Given the description of an element on the screen output the (x, y) to click on. 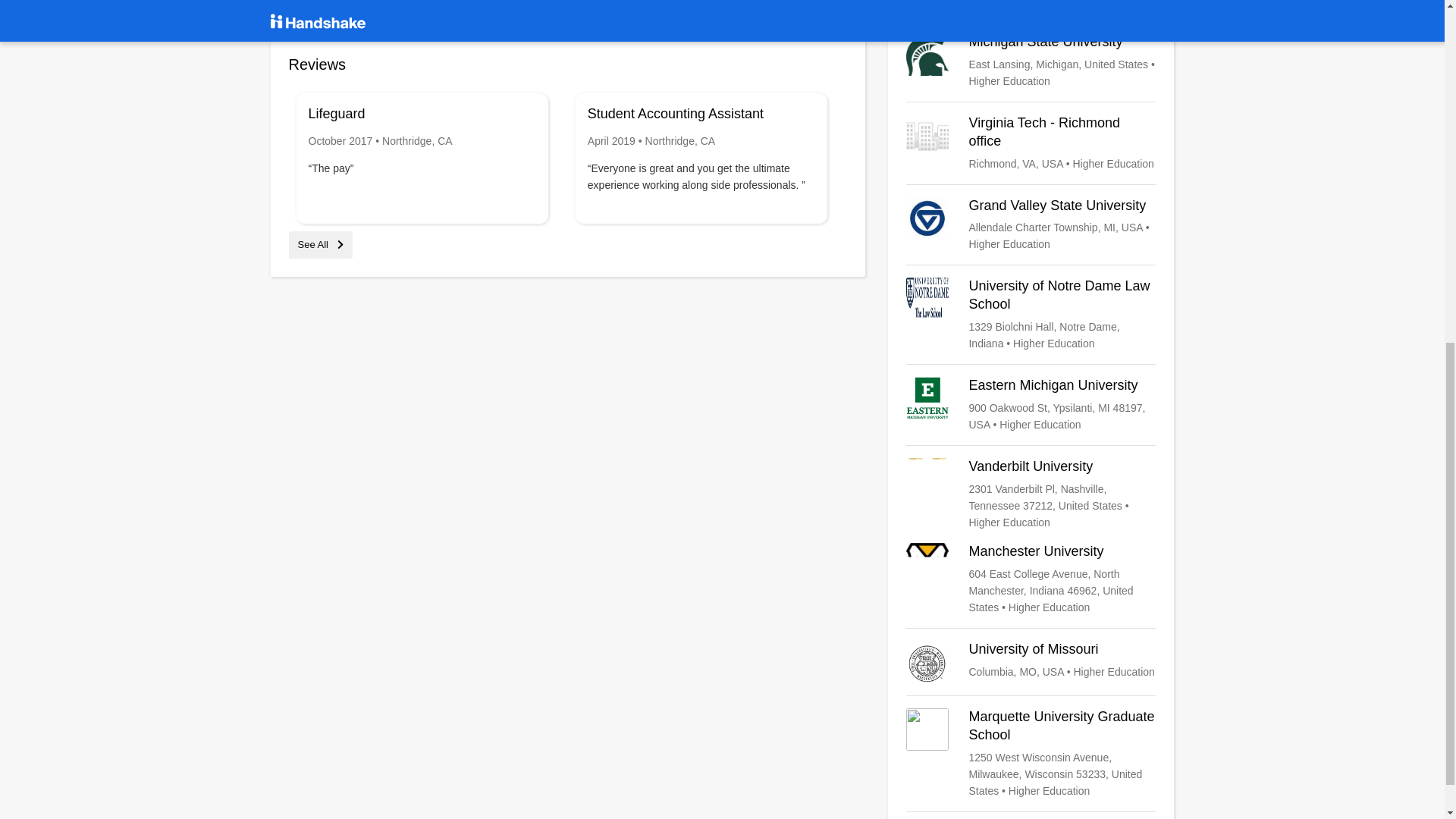
University of Notre Dame Law School (1030, 314)
Grand Valley State University (1030, 225)
Manchester University (1030, 578)
Virginia Tech - Richmond office (1030, 142)
Marquette University Graduate School (1030, 753)
Eastern Michigan University (1030, 404)
Vanderbilt University (1030, 493)
Michigan State University (1030, 61)
University of Missouri (1030, 661)
See All (320, 244)
